Given the description of an element on the screen output the (x, y) to click on. 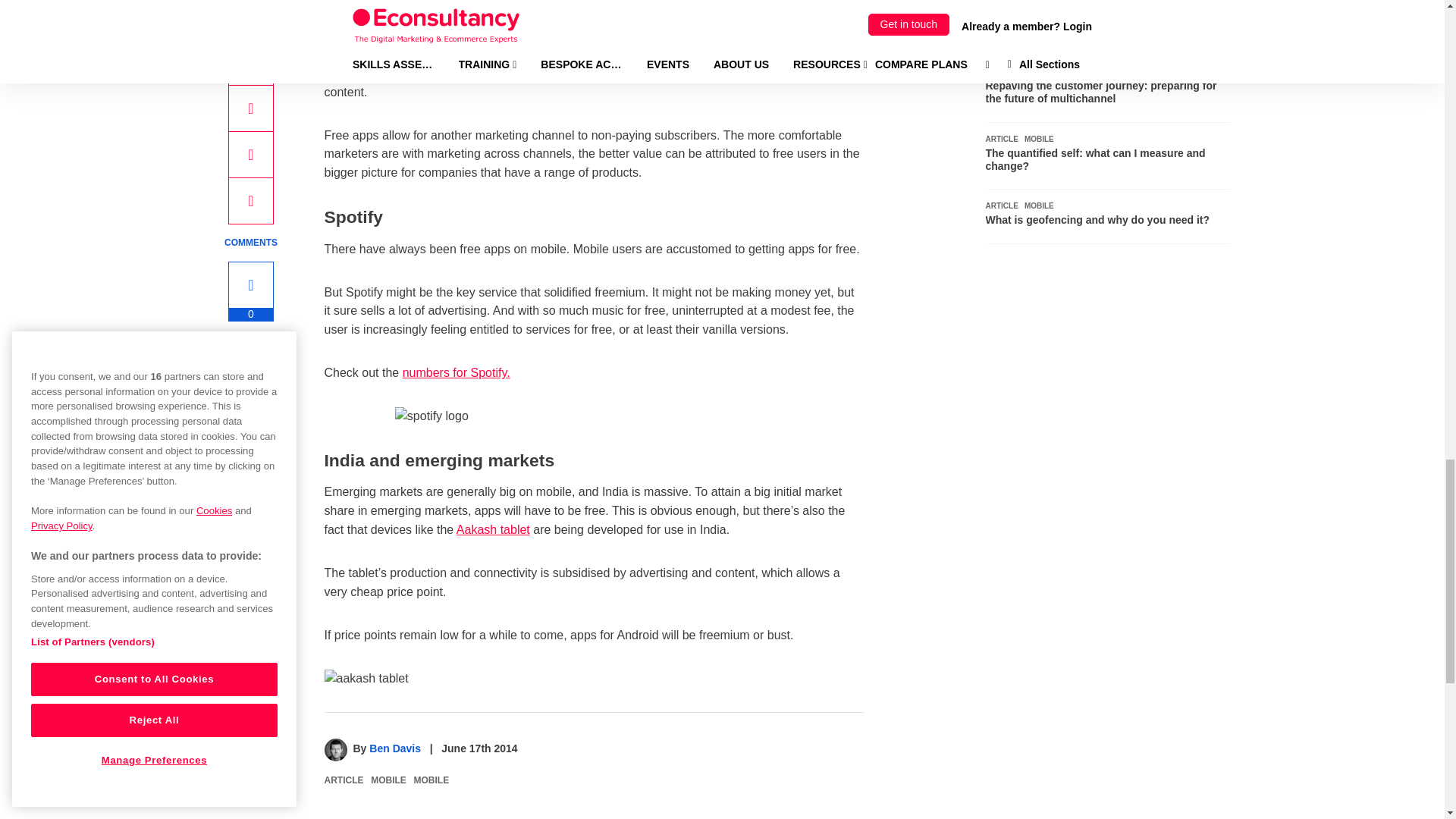
Posts by Ben Davis (394, 748)
